Given the description of an element on the screen output the (x, y) to click on. 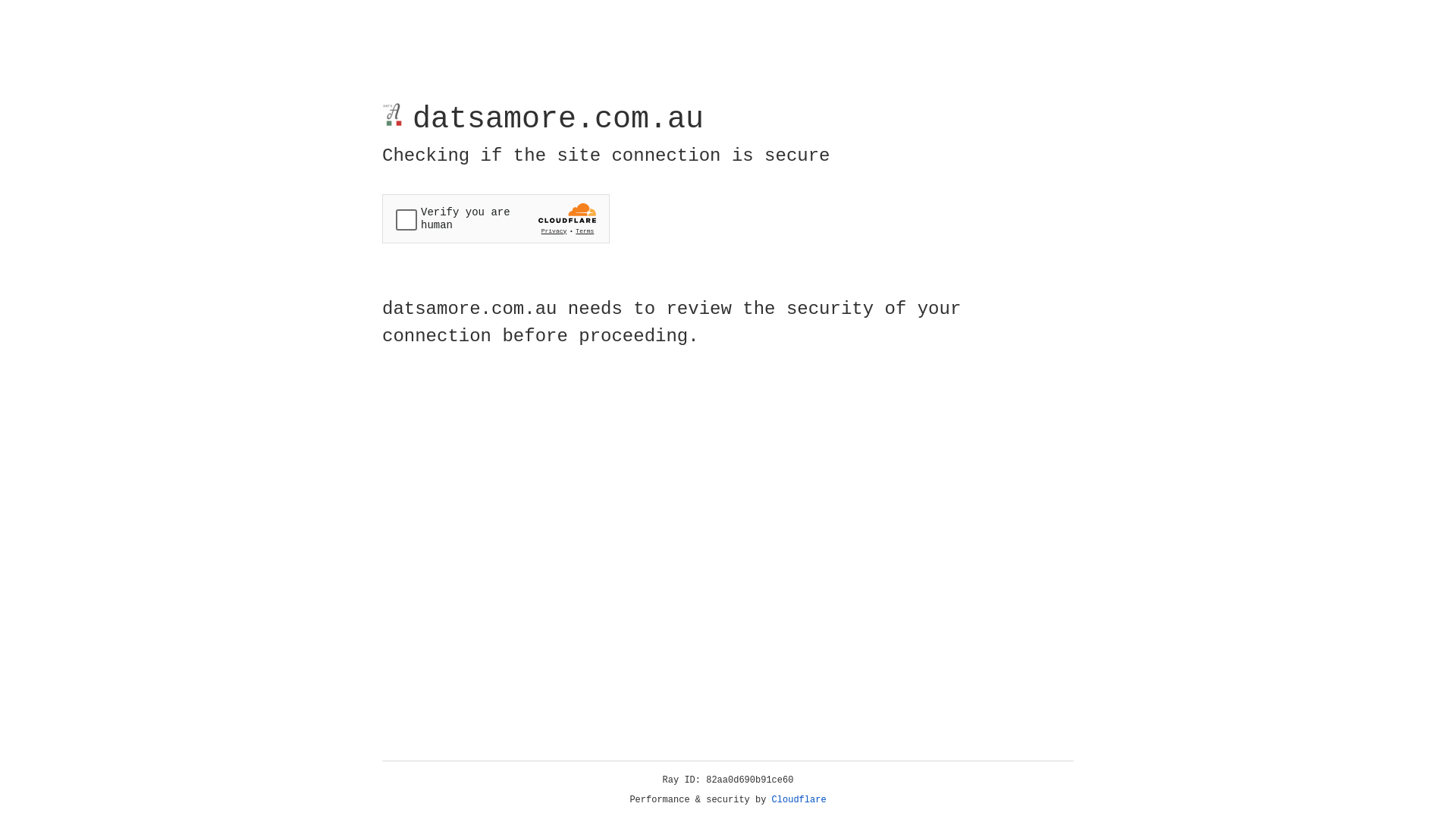
Widget containing a Cloudflare security challenge Element type: hover (495, 218)
Cloudflare Element type: text (798, 799)
